Given the description of an element on the screen output the (x, y) to click on. 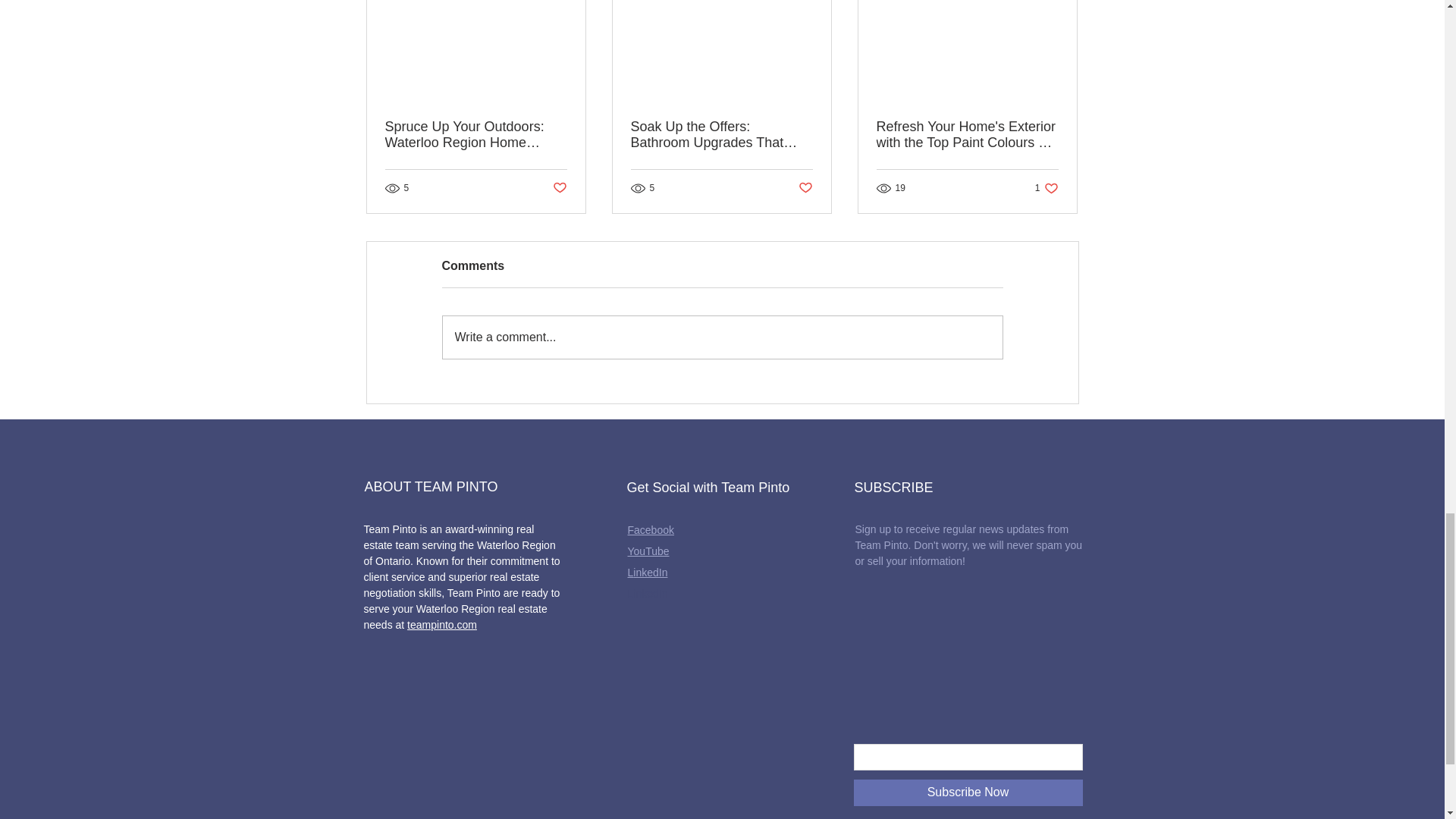
Write a comment... (722, 337)
Post not marked as liked (558, 188)
Post not marked as liked (804, 188)
